Given the description of an element on the screen output the (x, y) to click on. 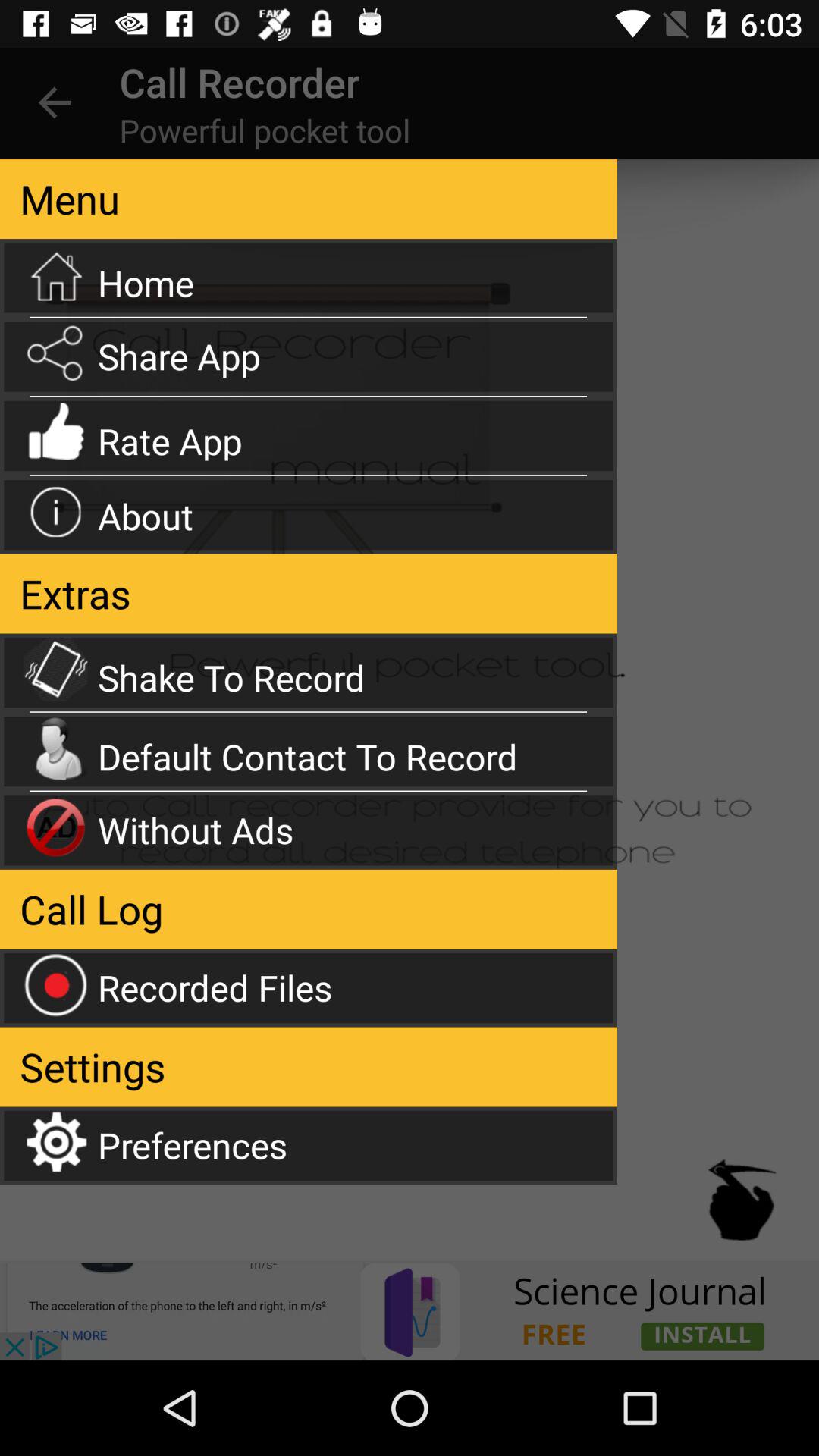
go to advertiser 's website (409, 1310)
